Given the description of an element on the screen output the (x, y) to click on. 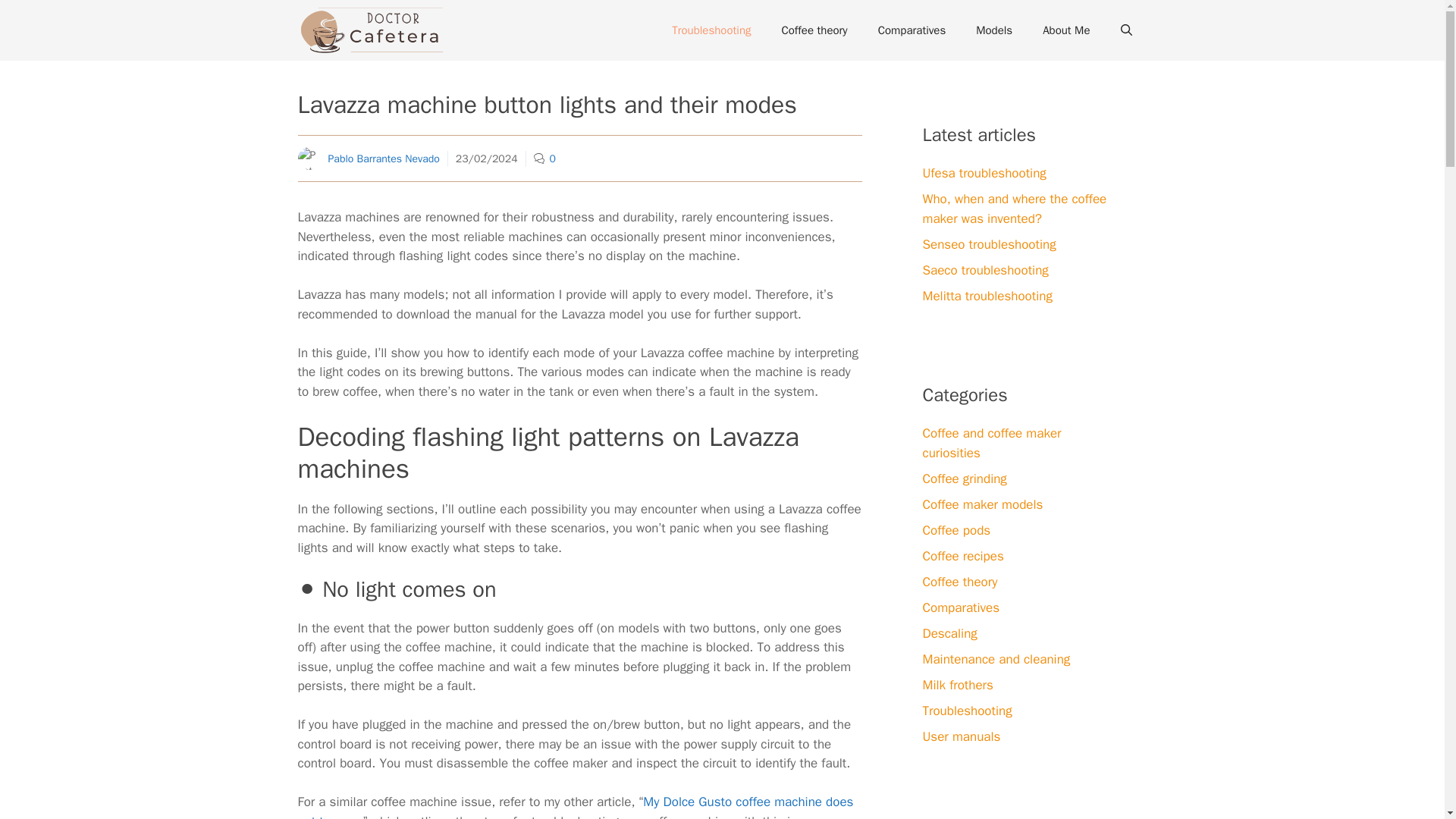
Coffee theory (959, 580)
Coffee recipes (962, 555)
Descaling (948, 632)
Who, when and where the coffee maker was invented? (1013, 208)
Models (993, 30)
Coffee and coffee maker curiosities (991, 443)
Coffee grinding (963, 478)
Troubleshooting (710, 30)
Senseo troubleshooting (988, 244)
About Me (1066, 30)
